Given the description of an element on the screen output the (x, y) to click on. 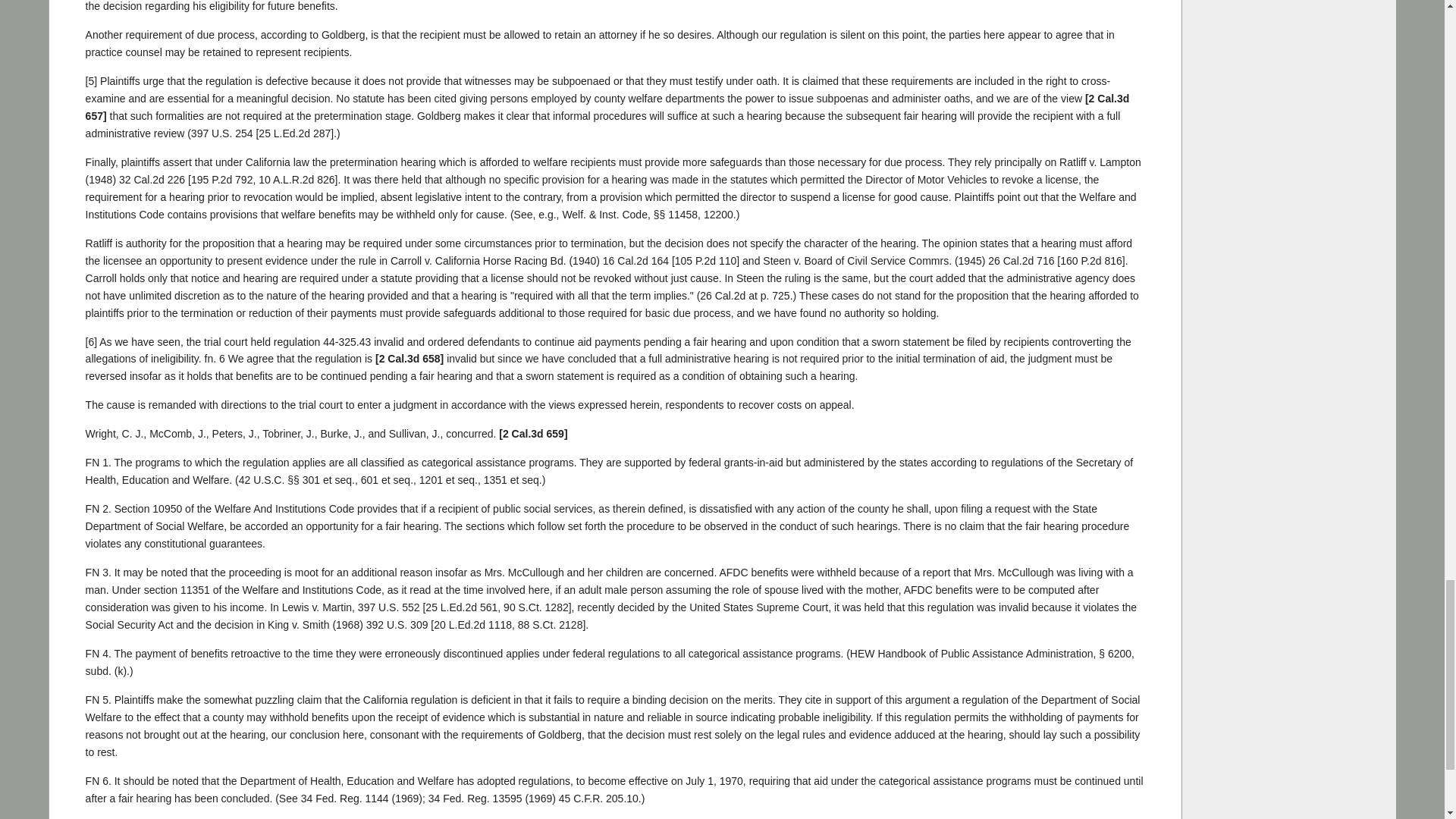
fn. 6 (215, 358)
392 U.S. 309 (397, 624)
Ratliff v. Lampton (151, 179)
16 Cal.2d 164 (635, 260)
26 Cal.2d 716 (1021, 260)
397 U.S. 552 (389, 607)
Steen v. Board of Civil Service Commrs. (1021, 260)
Carroll v. California Horse Racing Bd. (635, 260)
32 Cal.2d 226 (151, 179)
